Given the description of an element on the screen output the (x, y) to click on. 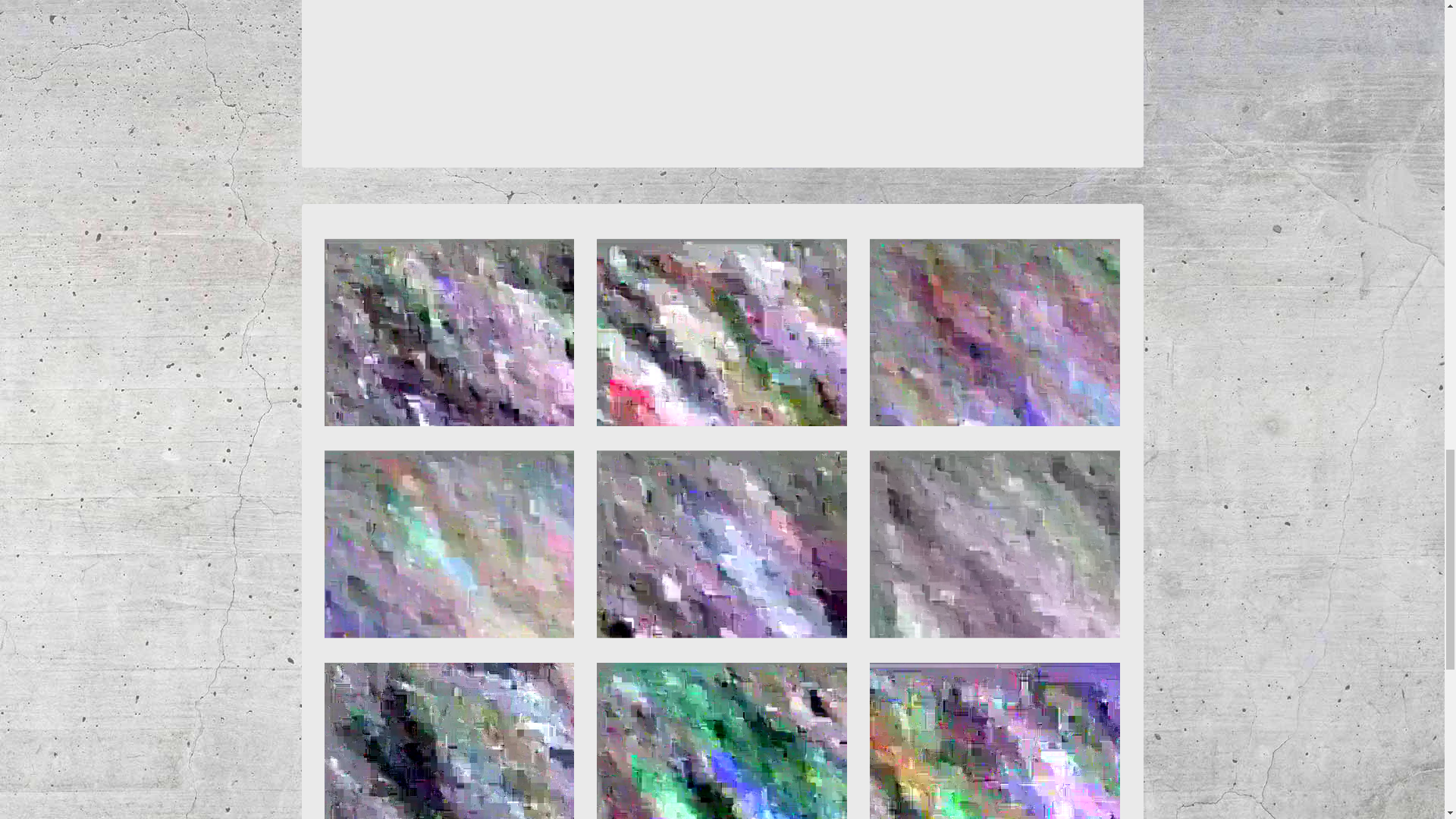
SGR1500 Grapple - Demolition Clearance (449, 544)
MBI SGR Grapple (994, 740)
MBI SGR1500 Selector grab on Hitachi ZX210 Excavator (994, 544)
SGR1500 Grapple - Shorts Group (721, 332)
SGR1500 Grapple - Tree Debris (994, 332)
MBI SGR850 Selector Grab on Liebherr 914C Excavator (449, 740)
MBI SGR1900 Rotating Grapple on Komatsu PC290 Excavator (721, 740)
MBI SGR1500 Selector grab on Volvo EC250 Excavator (449, 332)
MBI SGR1900 Rotating Grapple on Hyundai HX380 Excavator (721, 544)
